Given the description of an element on the screen output the (x, y) to click on. 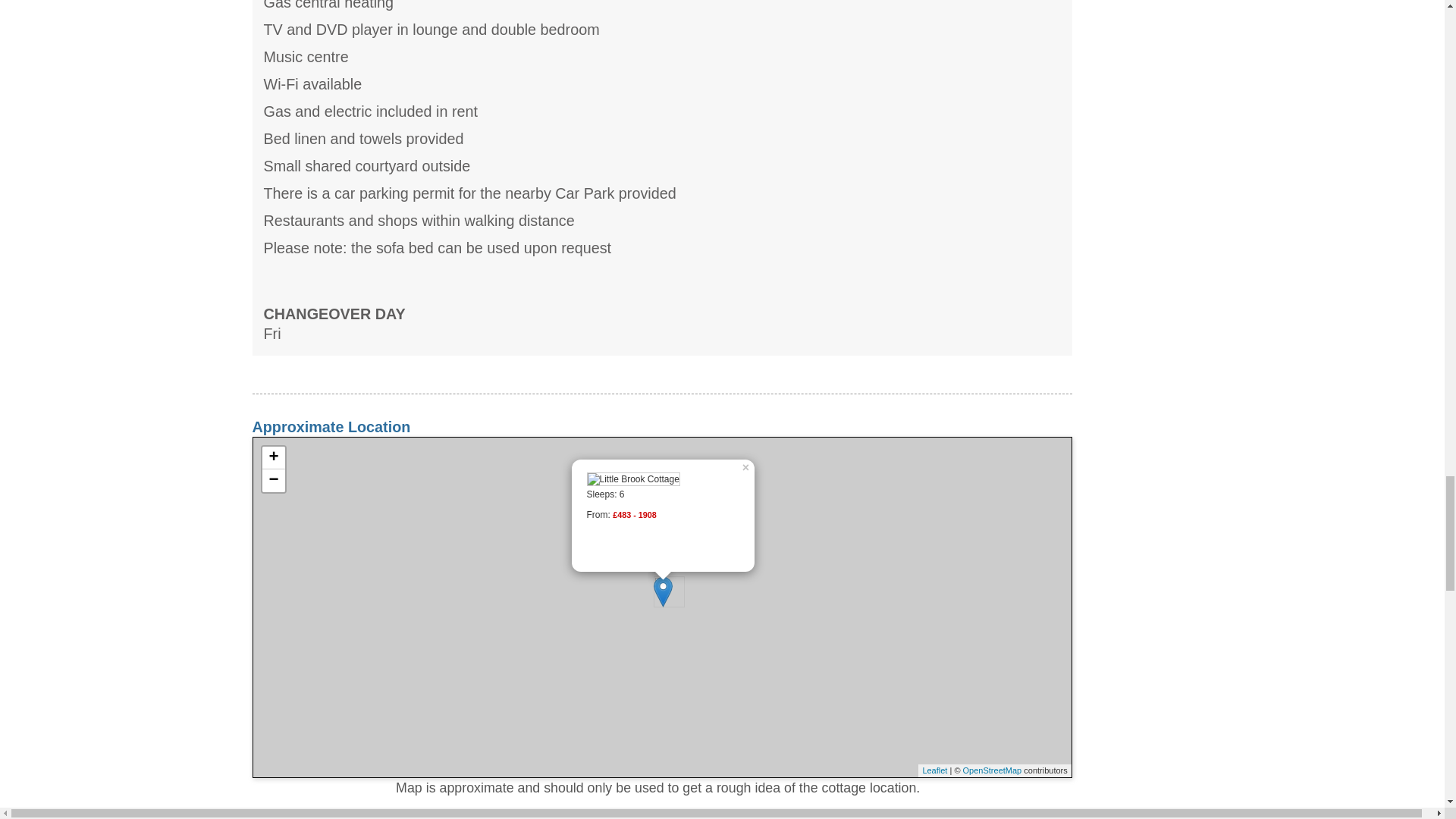
Zoom out (273, 480)
Zoom in (273, 457)
A JS library for interactive maps (934, 769)
